Given the description of an element on the screen output the (x, y) to click on. 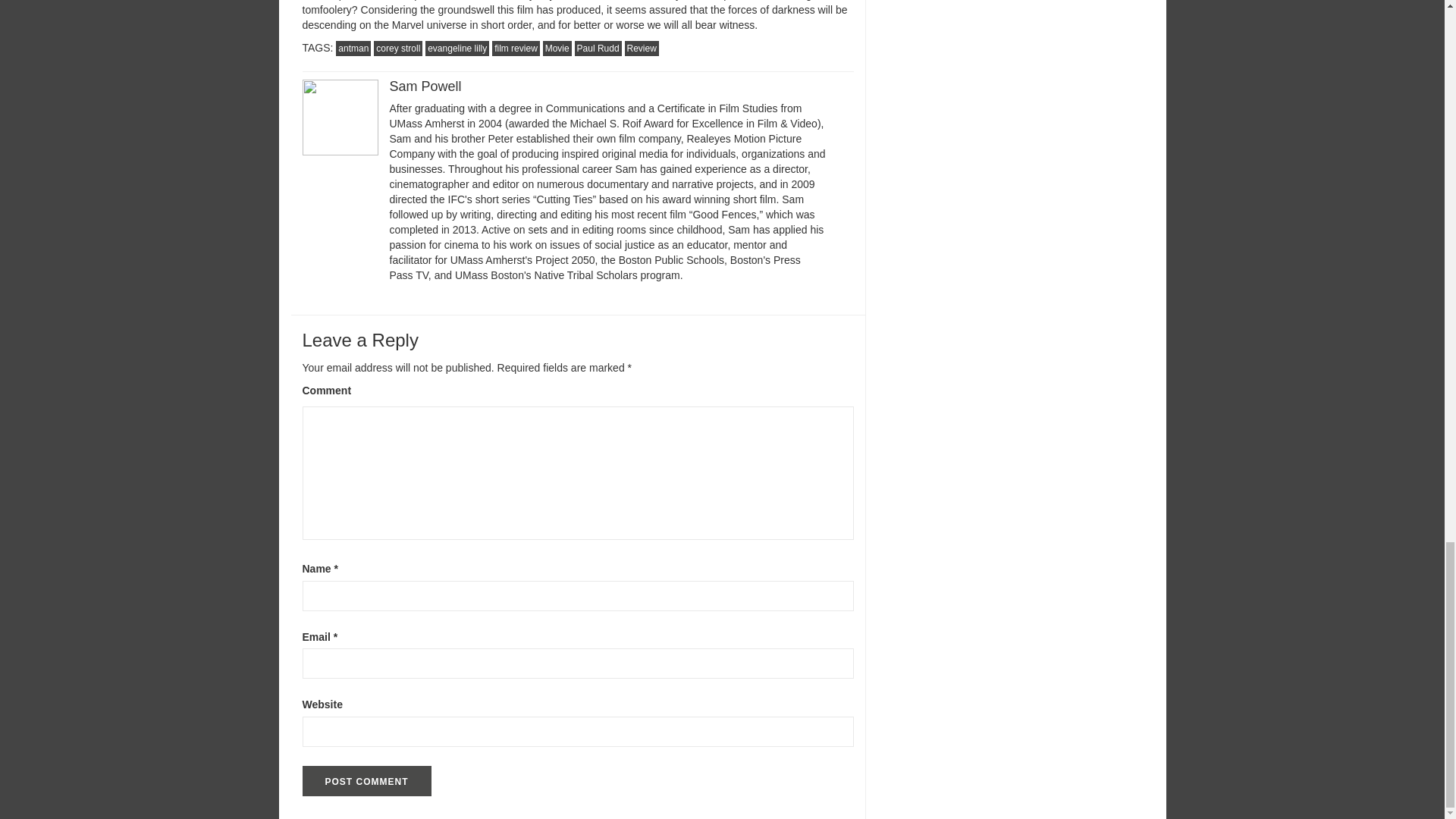
Paul Rudd (598, 48)
evangeline lilly (457, 48)
antman (353, 48)
Post Comment (365, 780)
Post Comment (365, 780)
Movie (557, 48)
corey stroll (398, 48)
film review (516, 48)
Review (641, 48)
